Given the description of an element on the screen output the (x, y) to click on. 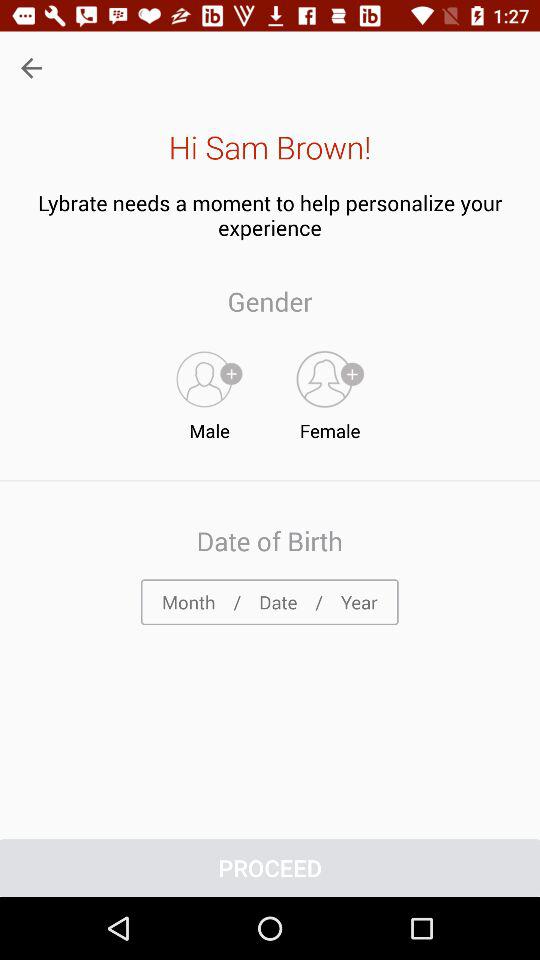
jump until proceed (270, 867)
